Given the description of an element on the screen output the (x, y) to click on. 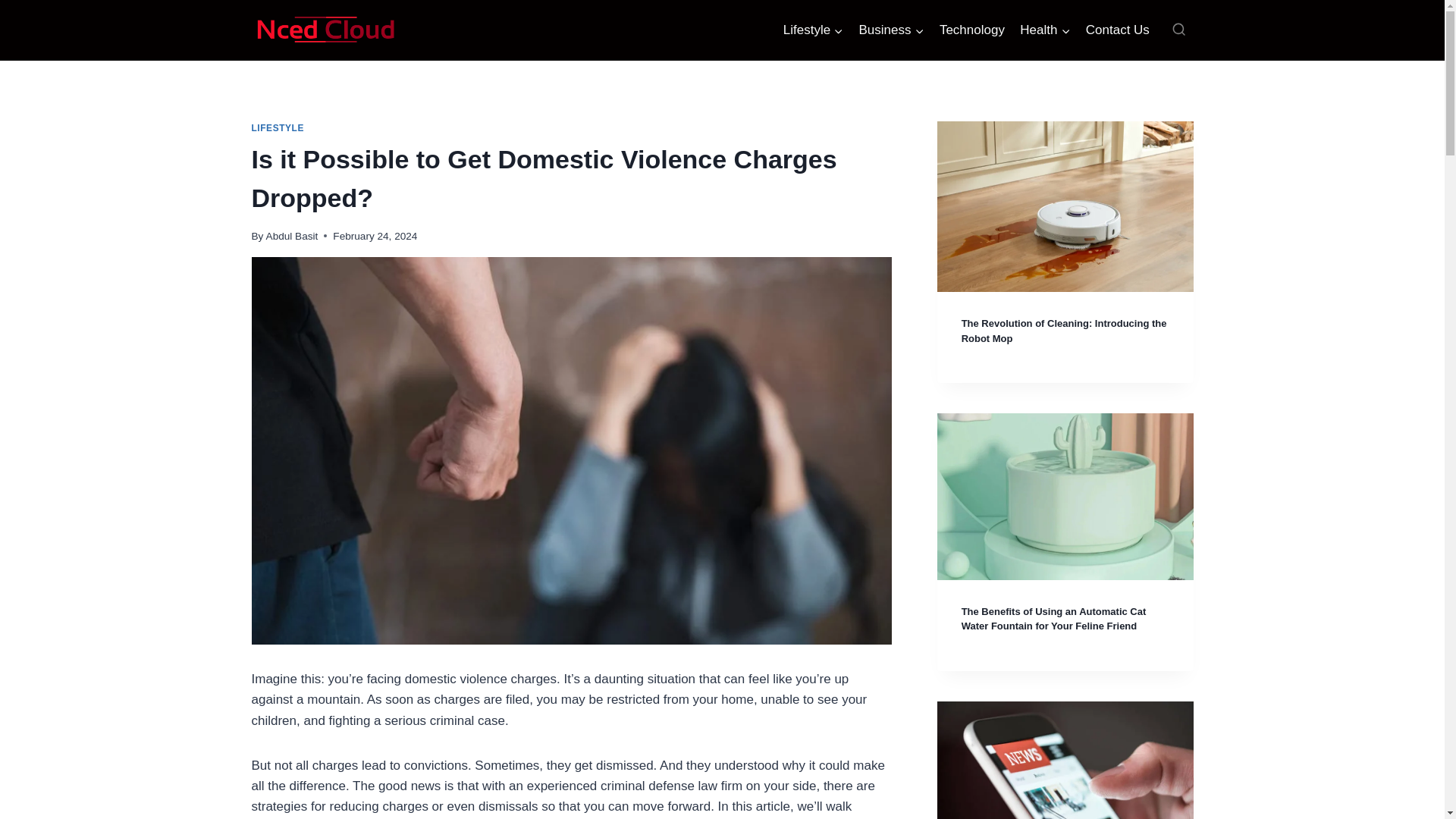
LIFESTYLE (277, 127)
Health (1044, 30)
Contact Us (1117, 30)
Technology (971, 30)
Business (890, 30)
Abdul Basit (292, 235)
Lifestyle (813, 30)
